Given the description of an element on the screen output the (x, y) to click on. 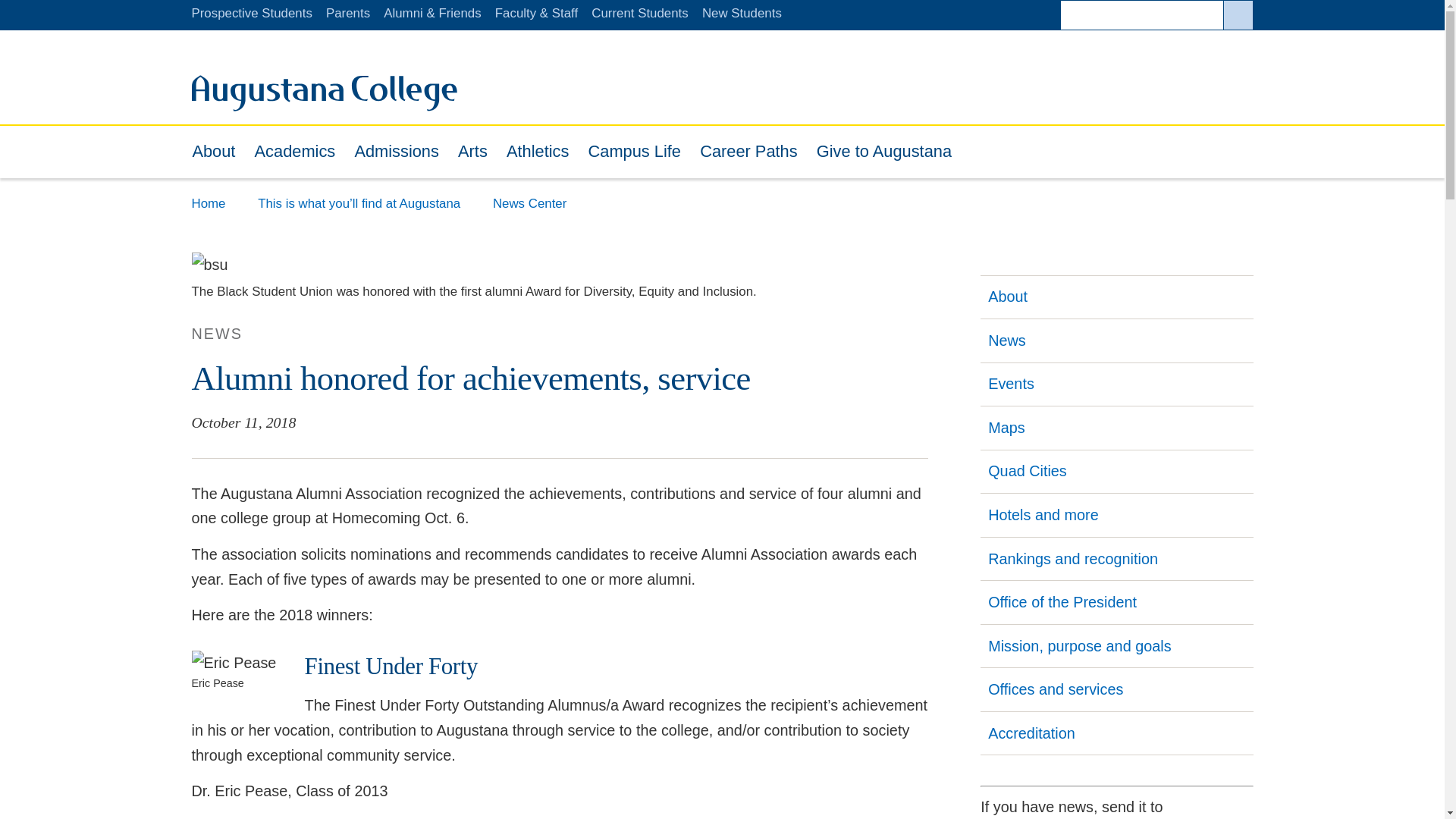
Prospective Students (250, 12)
About (213, 152)
Parents (347, 12)
Current Students (639, 12)
Search (323, 105)
Admissions (1238, 15)
Academics (396, 152)
Augustana College Logo for Augustana College (294, 152)
New Students (323, 93)
